Given the description of an element on the screen output the (x, y) to click on. 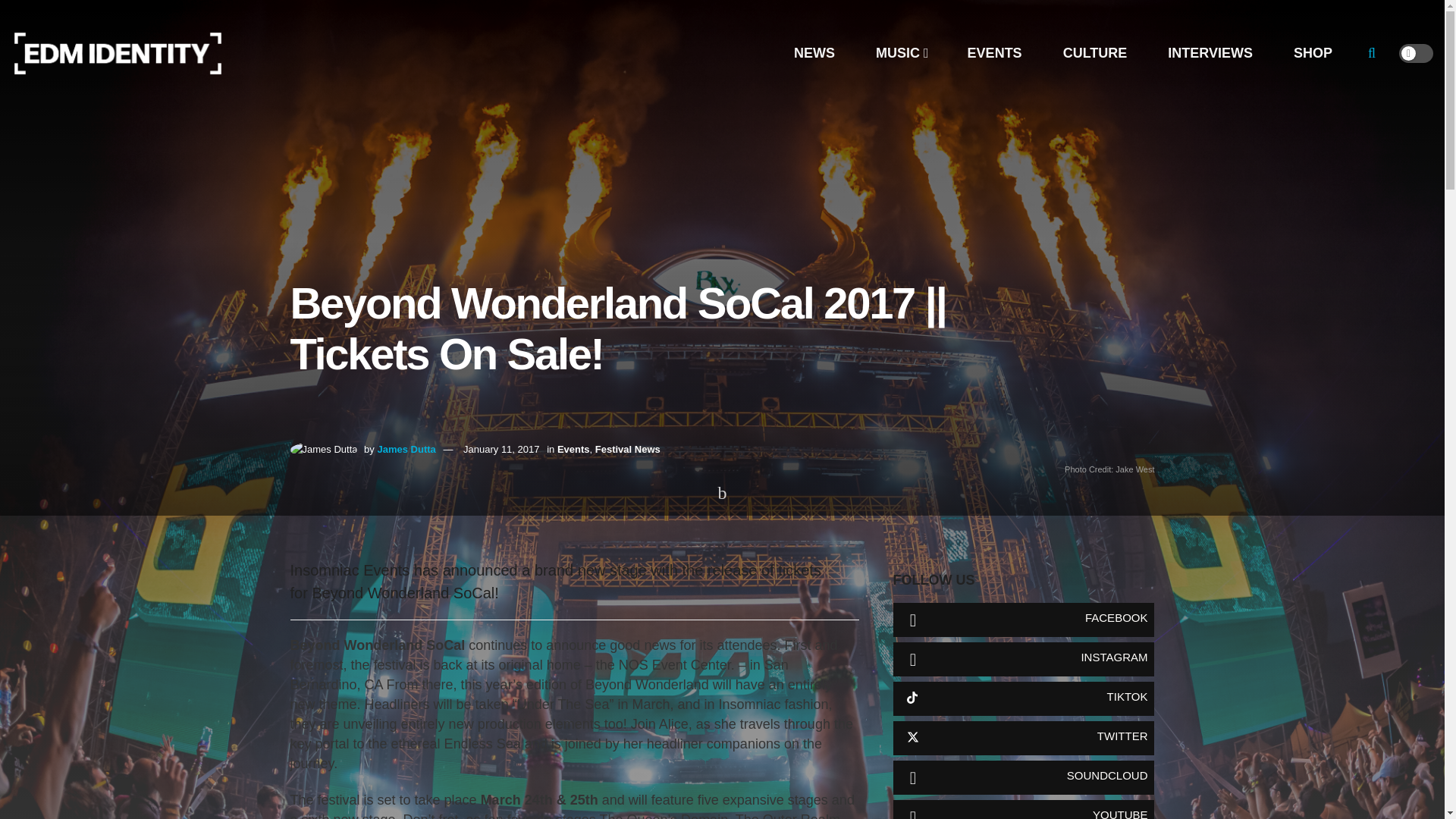
NEWS (814, 53)
CULTURE (1095, 53)
SHOP (1312, 53)
INTERVIEWS (1210, 53)
Festival News (628, 449)
EVENTS (994, 53)
Events (573, 449)
January 11, 2017 (500, 449)
James Dutta (406, 449)
MUSIC (901, 53)
